Given the description of an element on the screen output the (x, y) to click on. 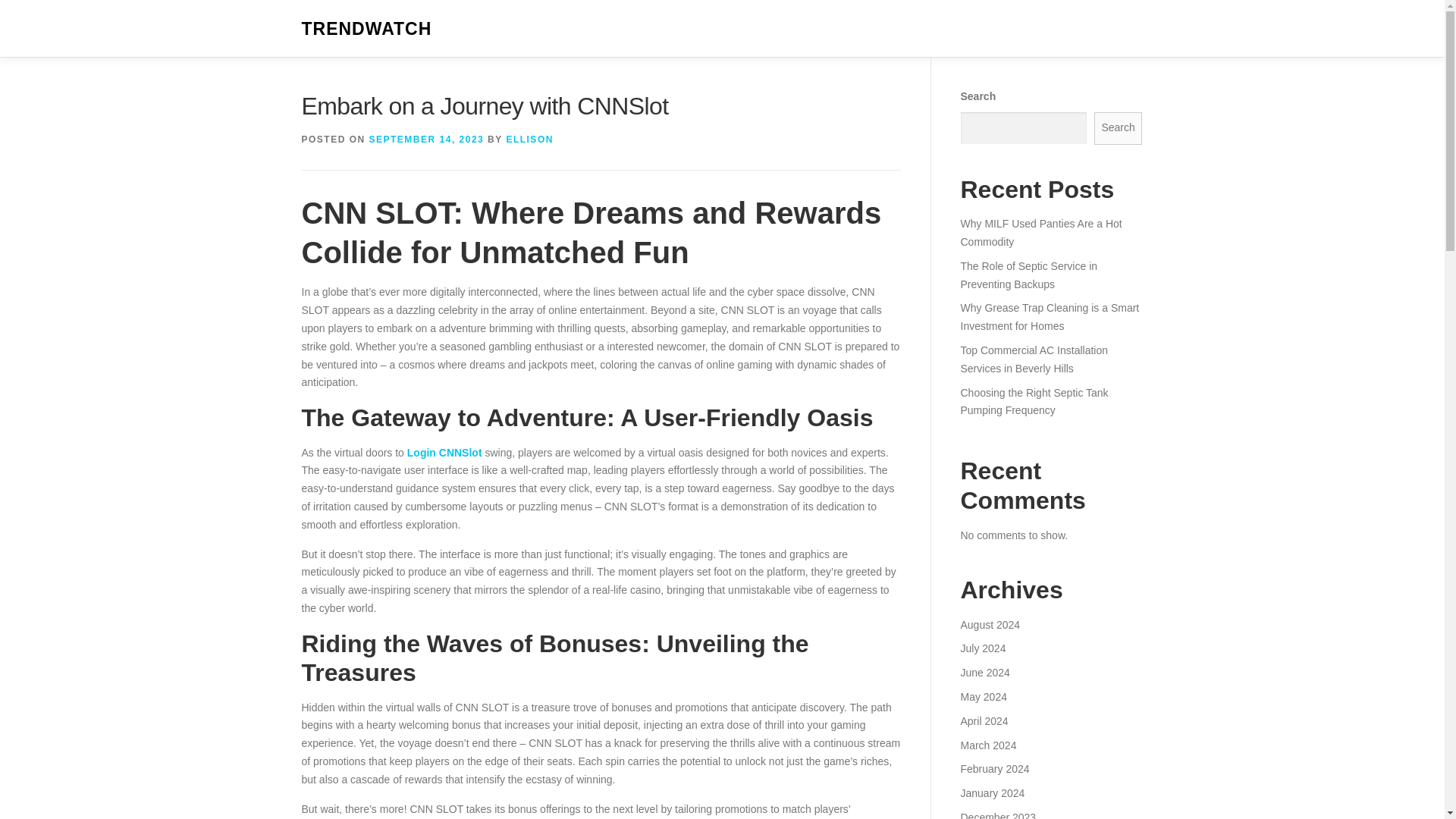
Login CNNSlot (444, 452)
July 2024 (982, 648)
April 2024 (983, 720)
The Role of Septic Service in Preventing Backups (1028, 275)
February 2024 (994, 768)
ELLISON (529, 139)
December 2023 (997, 815)
SEPTEMBER 14, 2023 (426, 139)
January 2024 (992, 793)
August 2024 (989, 624)
June 2024 (984, 672)
TRENDWATCH (366, 29)
Search (1118, 128)
May 2024 (982, 696)
March 2024 (987, 744)
